Given the description of an element on the screen output the (x, y) to click on. 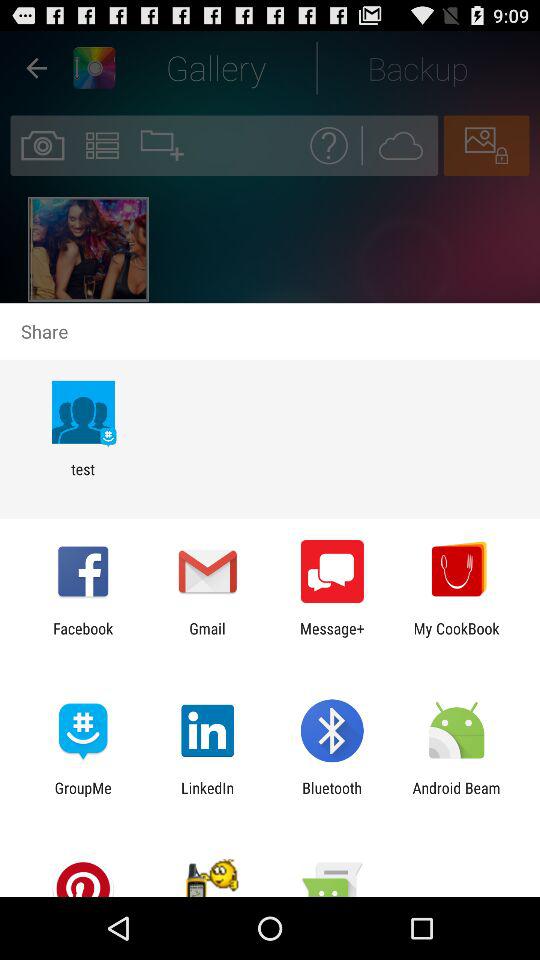
flip until the my cookbook item (456, 637)
